Given the description of an element on the screen output the (x, y) to click on. 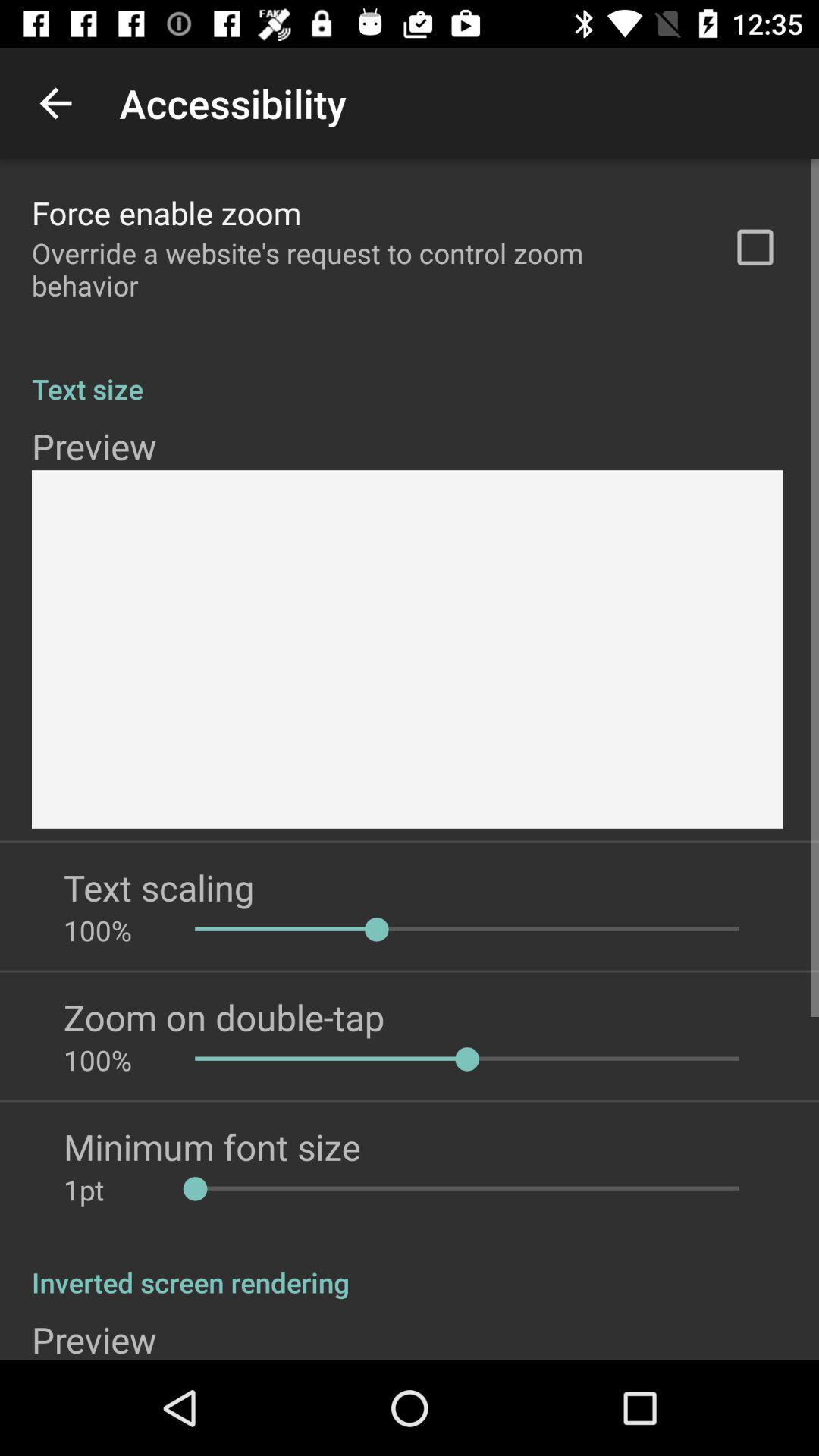
turn on icon above the text size app (755, 247)
